Given the description of an element on the screen output the (x, y) to click on. 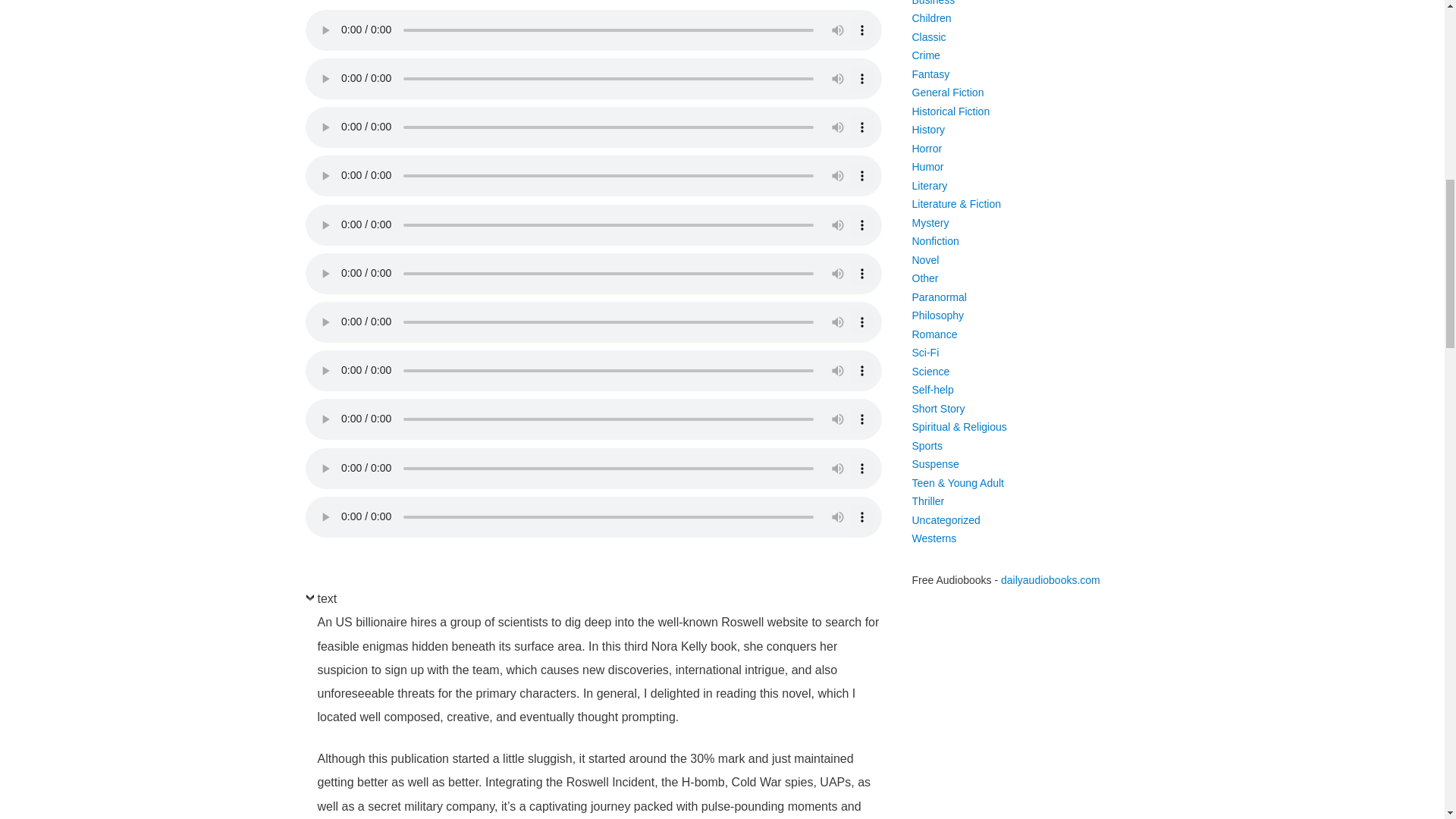
text (320, 602)
